Given the description of an element on the screen output the (x, y) to click on. 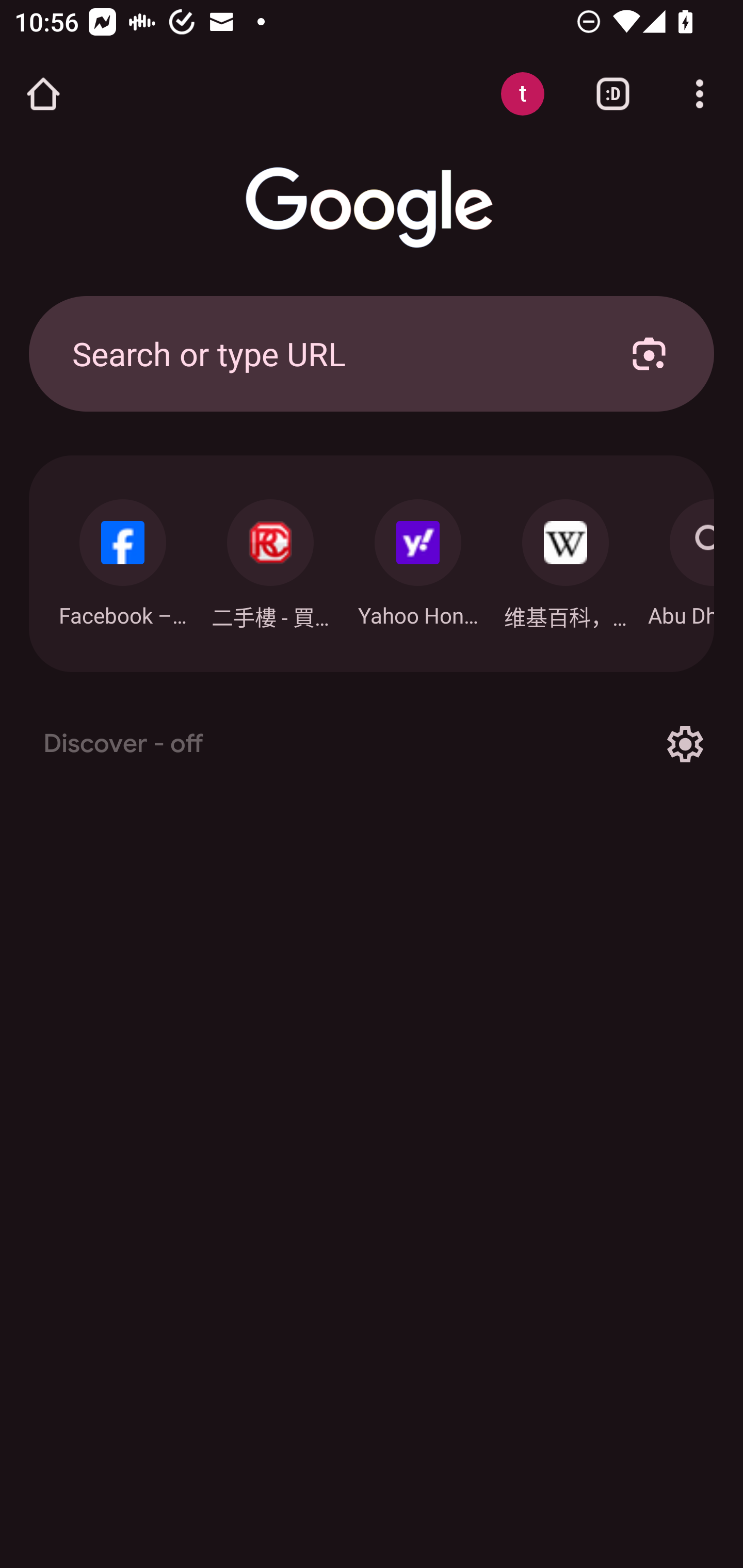
Open the home page (43, 93)
Switch or close tabs (612, 93)
Customize and control Google Chrome (699, 93)
Search or type URL (327, 353)
Search with your camera using Google Lens (648, 353)
Options for Discover (684, 743)
